Given the description of an element on the screen output the (x, y) to click on. 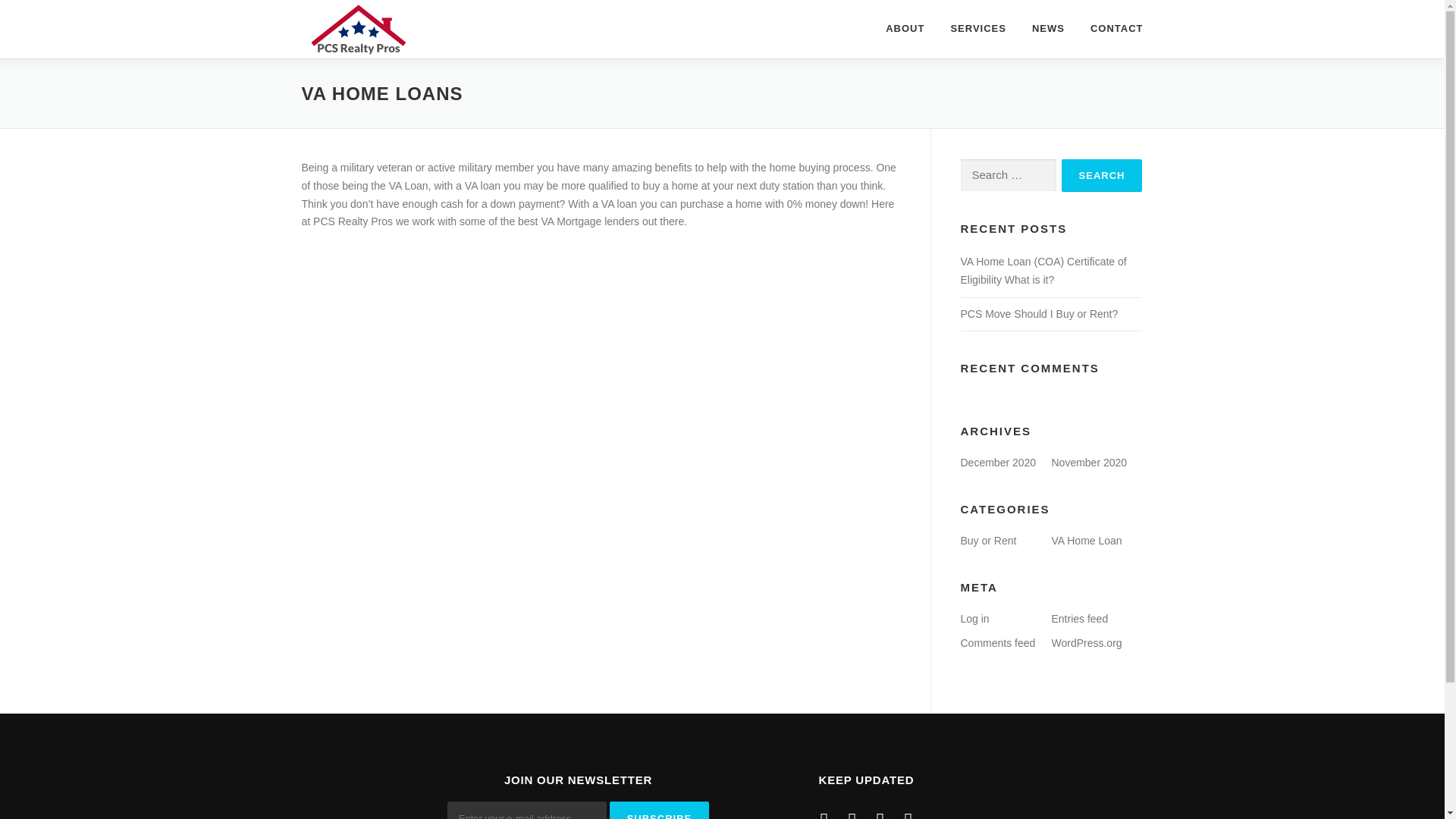
Comments feed (997, 643)
Search (1101, 174)
ABOUT (904, 29)
Search (1101, 174)
VA Home Loan (1086, 540)
Subscribe (660, 810)
Entries feed (1079, 618)
Search (1101, 174)
November 2020 (1088, 462)
December 2020 (997, 462)
Subscribe (660, 810)
CONTACT (1109, 29)
Log in (973, 618)
PCS Move Should I Buy or Rent? (1038, 313)
NEWS (1048, 29)
